Given the description of an element on the screen output the (x, y) to click on. 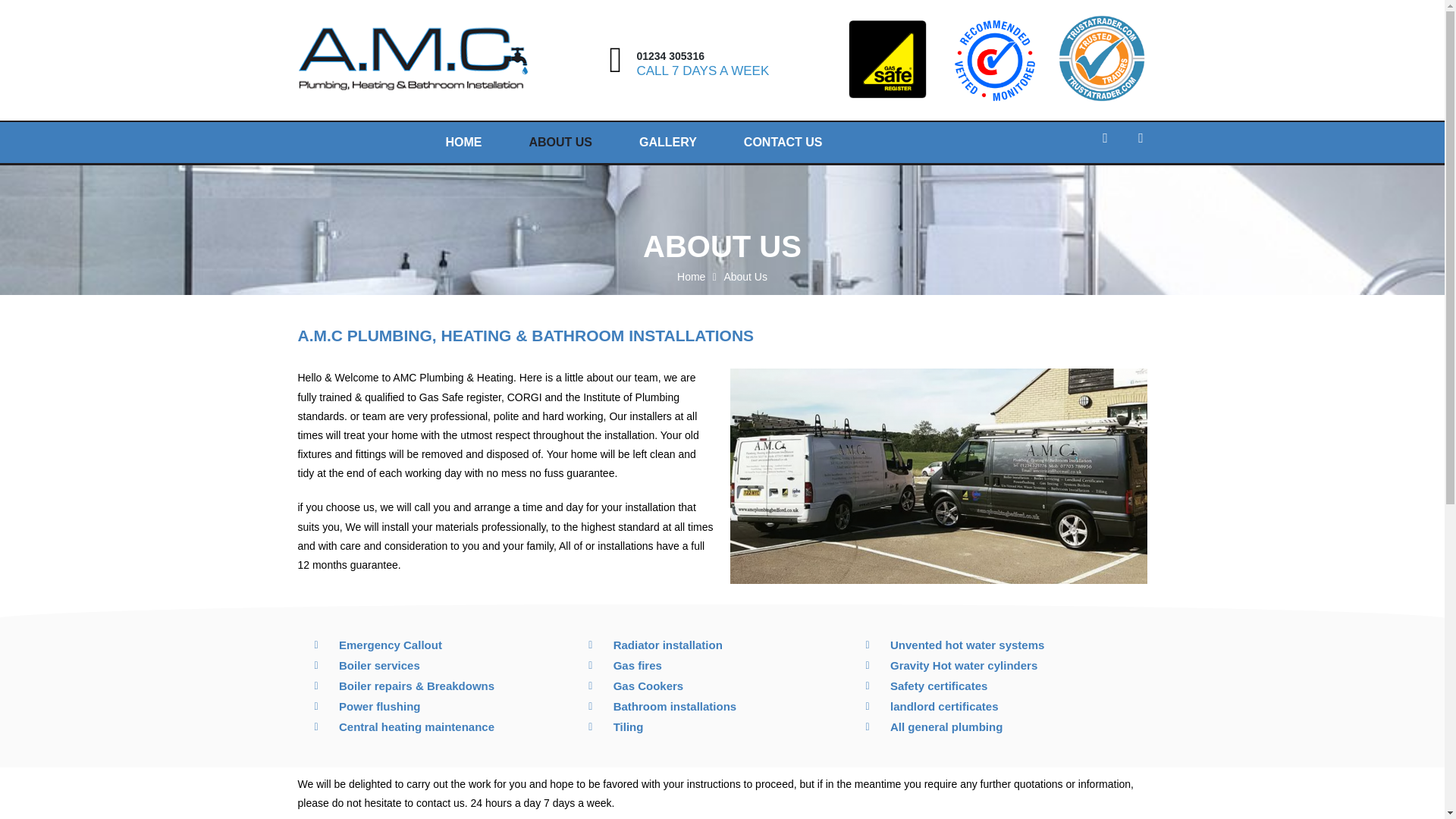
HOME (463, 142)
GALLERY (667, 142)
Home (690, 276)
01234 305316 (670, 55)
Home (690, 276)
ABOUT US (560, 142)
CONTACT US (782, 142)
